Given the description of an element on the screen output the (x, y) to click on. 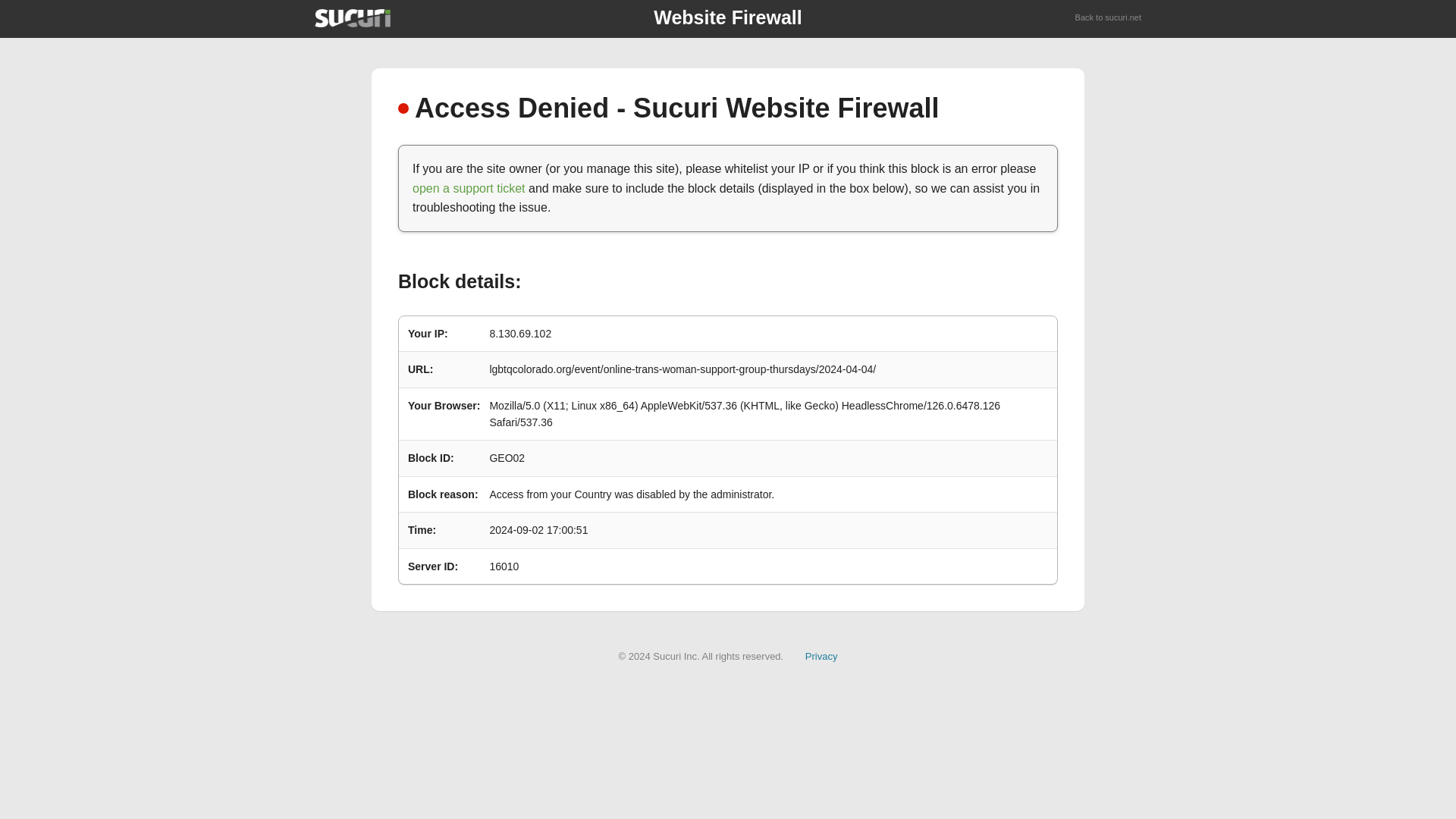
Privacy (821, 655)
open a support ticket (468, 187)
Back to sucuri.net (1108, 18)
